Given the description of an element on the screen output the (x, y) to click on. 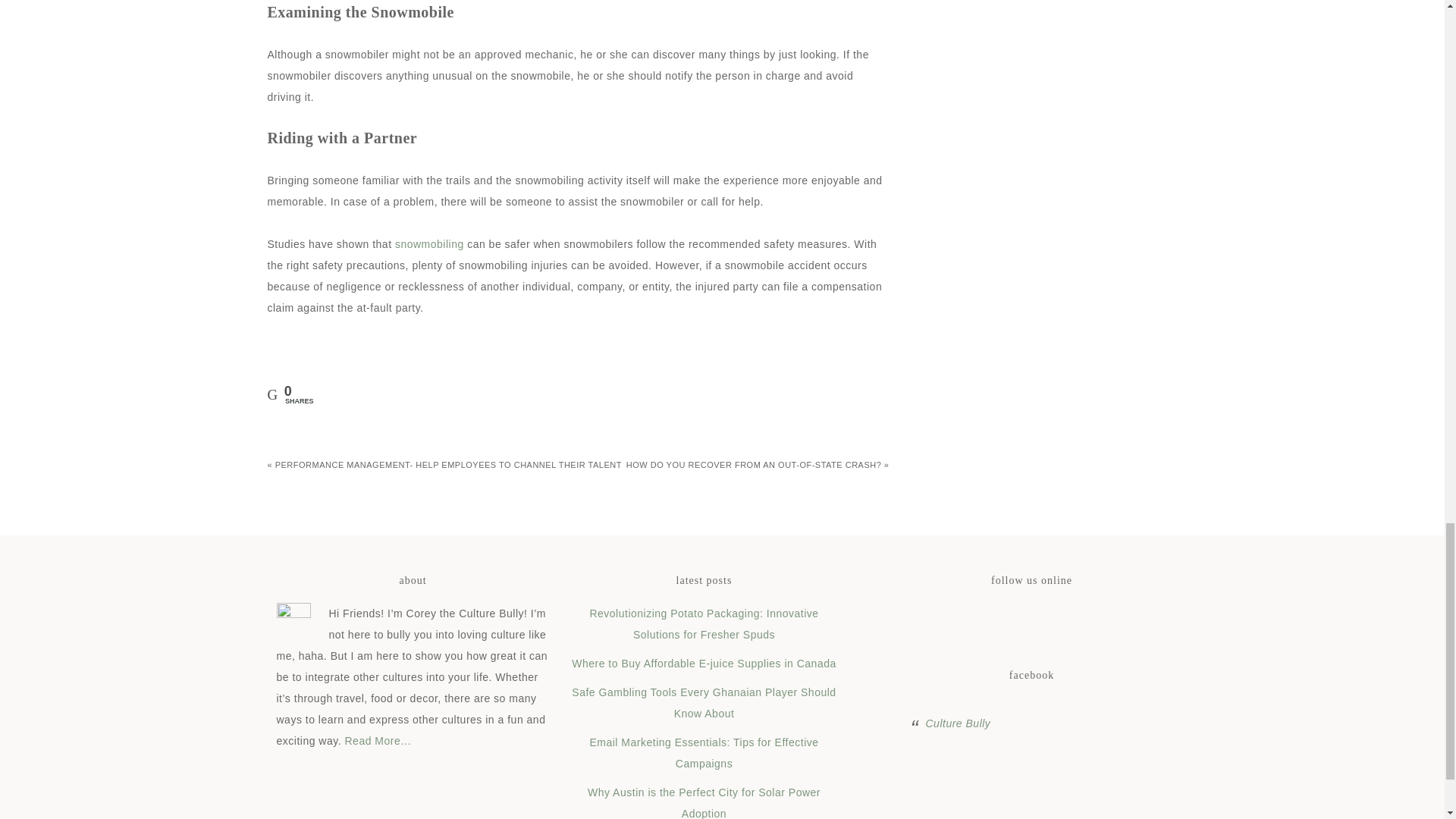
Where to Buy Affordable E-juice Supplies in Canada (703, 663)
Email Marketing Essentials: Tips for Effective Campaigns (703, 752)
Safe Gambling Tools Every Ghanaian Player Should Know About (703, 702)
snowmobiling (429, 244)
Why Austin is the Perfect City for Solar Power Adoption (704, 802)
Culture Bully (957, 723)
